Given the description of an element on the screen output the (x, y) to click on. 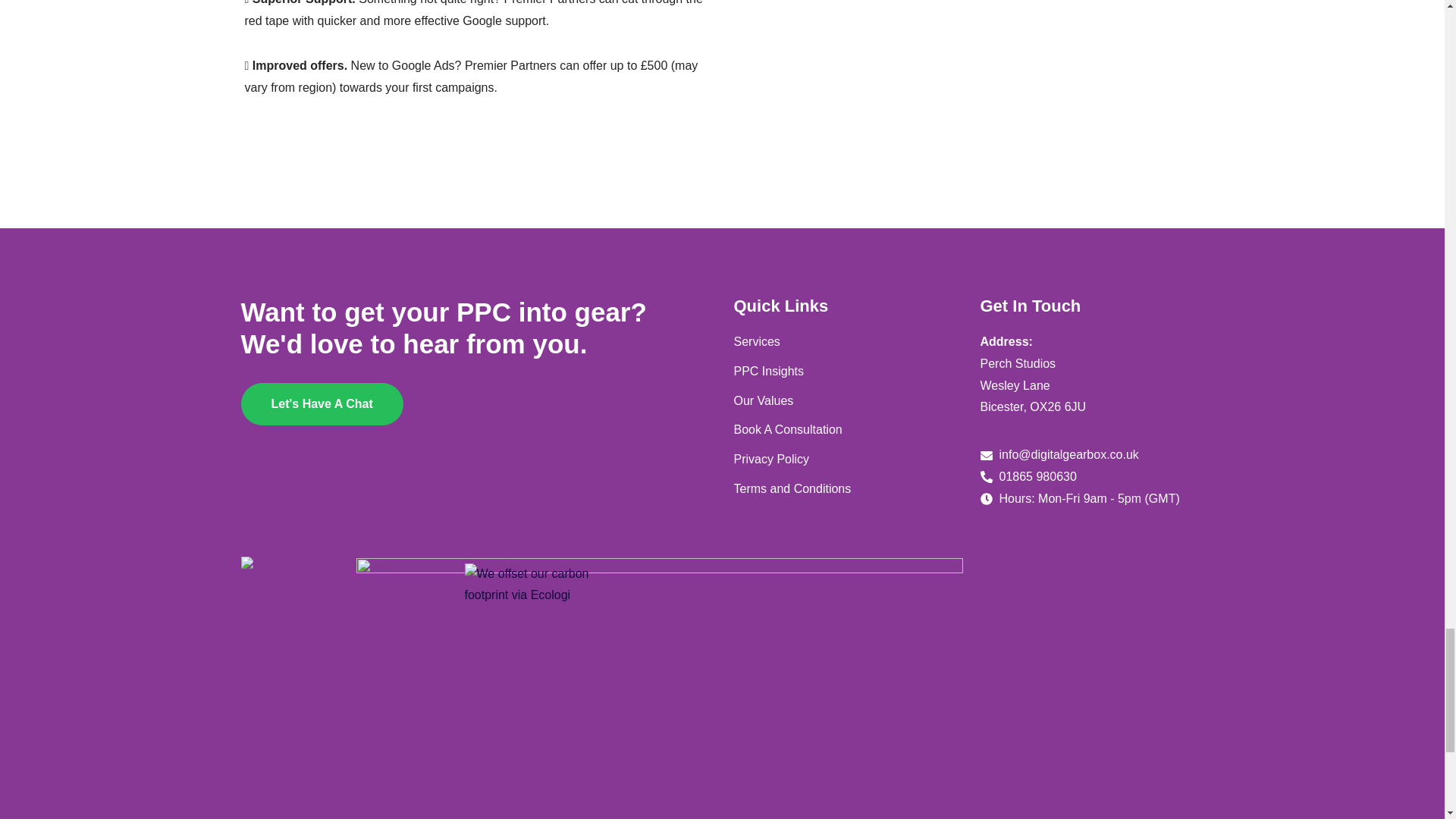
Let'S Have A Chat (322, 404)
PPC Insights (845, 372)
Privacy Policy (845, 459)
View our Ecologi profile (539, 585)
Services (845, 341)
Book A Consultation (845, 430)
Our Values (845, 401)
